Given the description of an element on the screen output the (x, y) to click on. 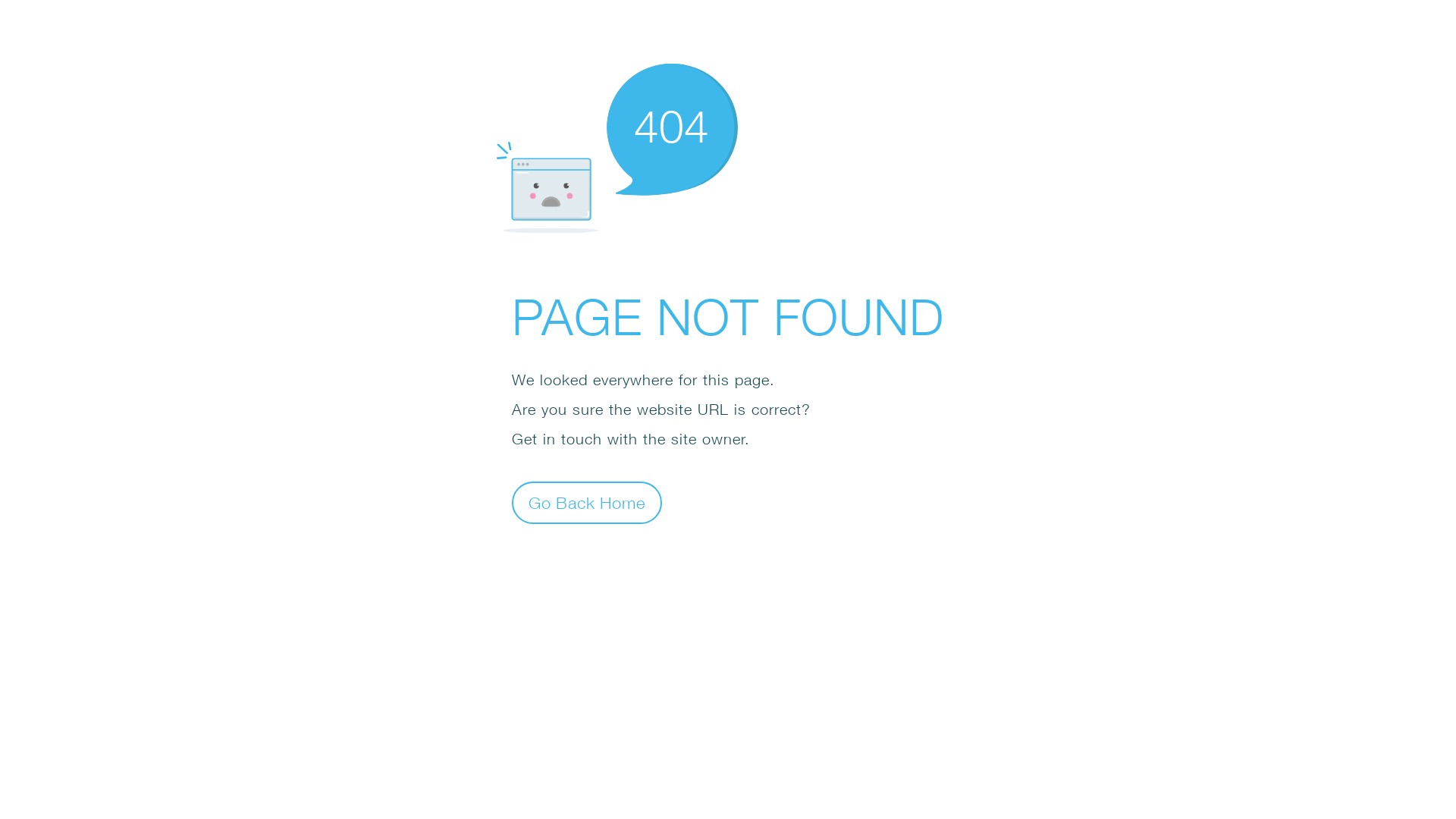
Go Back Home Element type: text (586, 502)
